Given the description of an element on the screen output the (x, y) to click on. 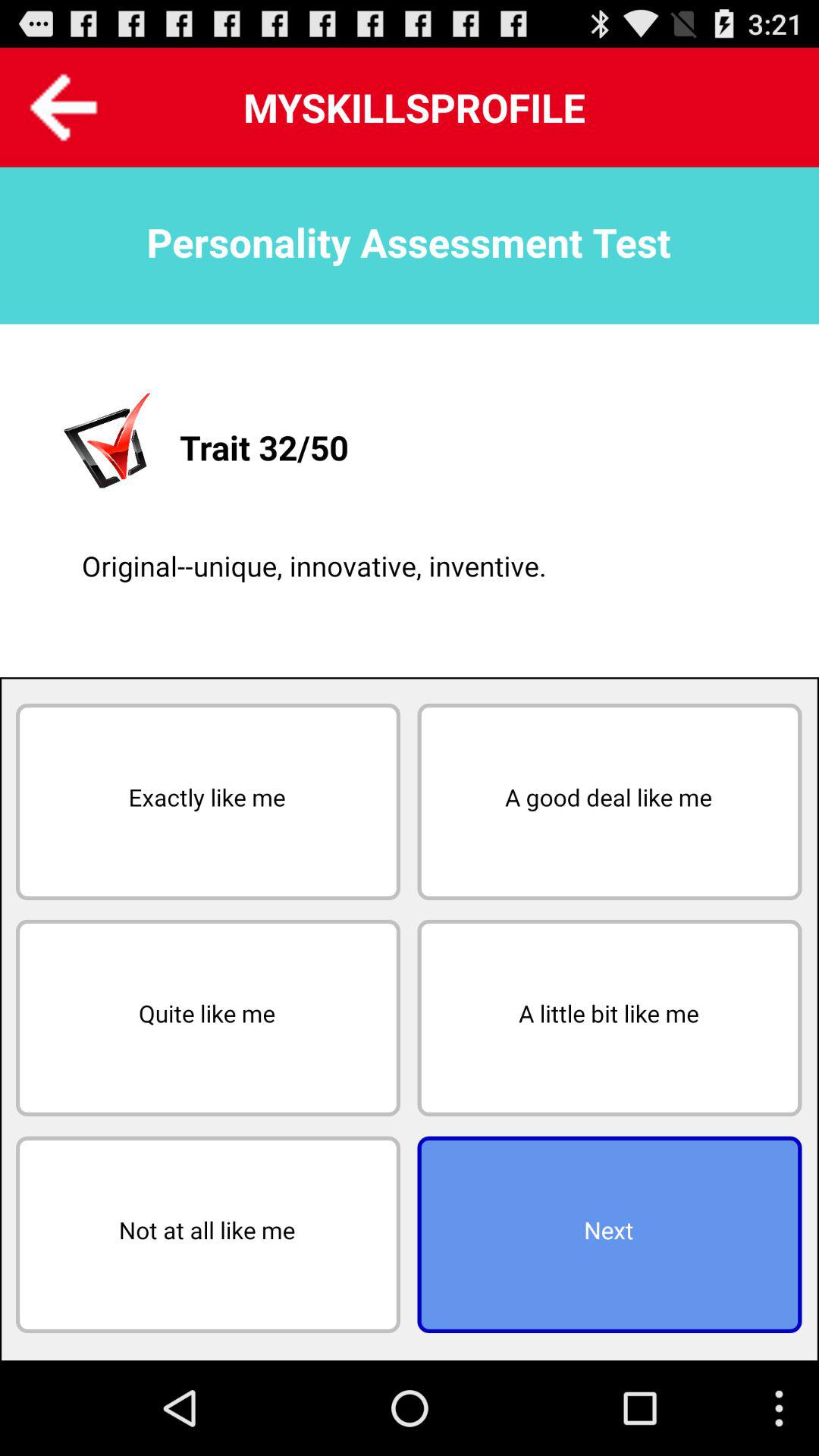
launch icon below the a little bit icon (609, 1234)
